Given the description of an element on the screen output the (x, y) to click on. 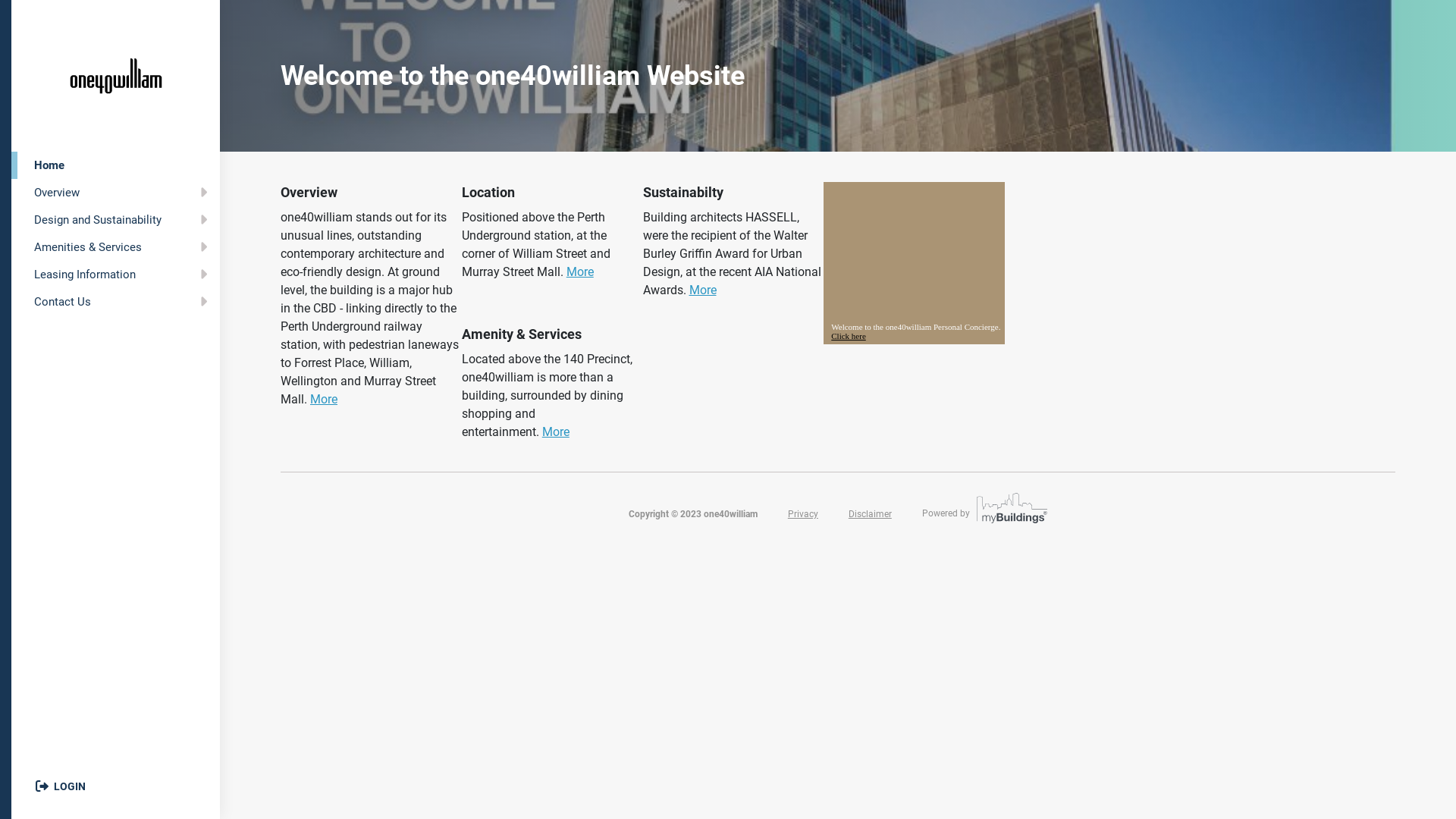
More Element type: text (323, 399)
Contact Us Element type: text (115, 301)
More Element type: text (579, 271)
Leasing Information Element type: text (115, 274)
Home Element type: text (115, 164)
Click here Element type: text (848, 335)
Design and Sustainability Element type: text (115, 219)
More Element type: text (701, 289)
Overview Element type: text (115, 192)
Visit CoreVision Website Element type: hover (1009, 513)
Privacy Element type: text (802, 513)
LOGIN Element type: text (60, 785)
More Element type: text (555, 431)
Amenities & Services Element type: text (115, 246)
Disclaimer Element type: text (869, 513)
